Given the description of an element on the screen output the (x, y) to click on. 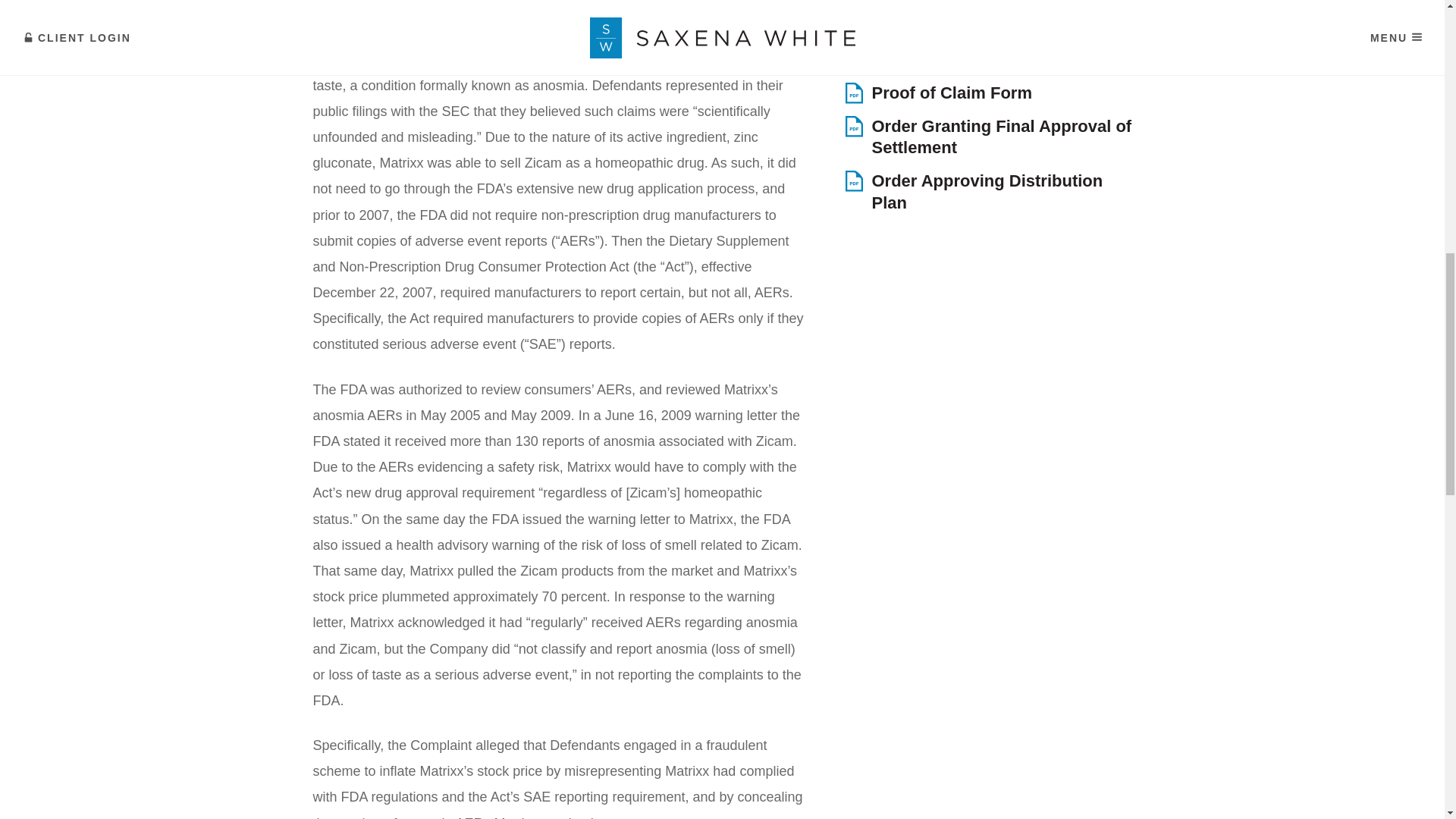
Order Preliminarily Approving Settlement (987, 18)
Order Granting Final Approval of Settlement (987, 137)
Order Approving Distribution Plan (987, 191)
Proof of Claim Form (987, 93)
Notice of Settlement (987, 60)
